Given the description of an element on the screen output the (x, y) to click on. 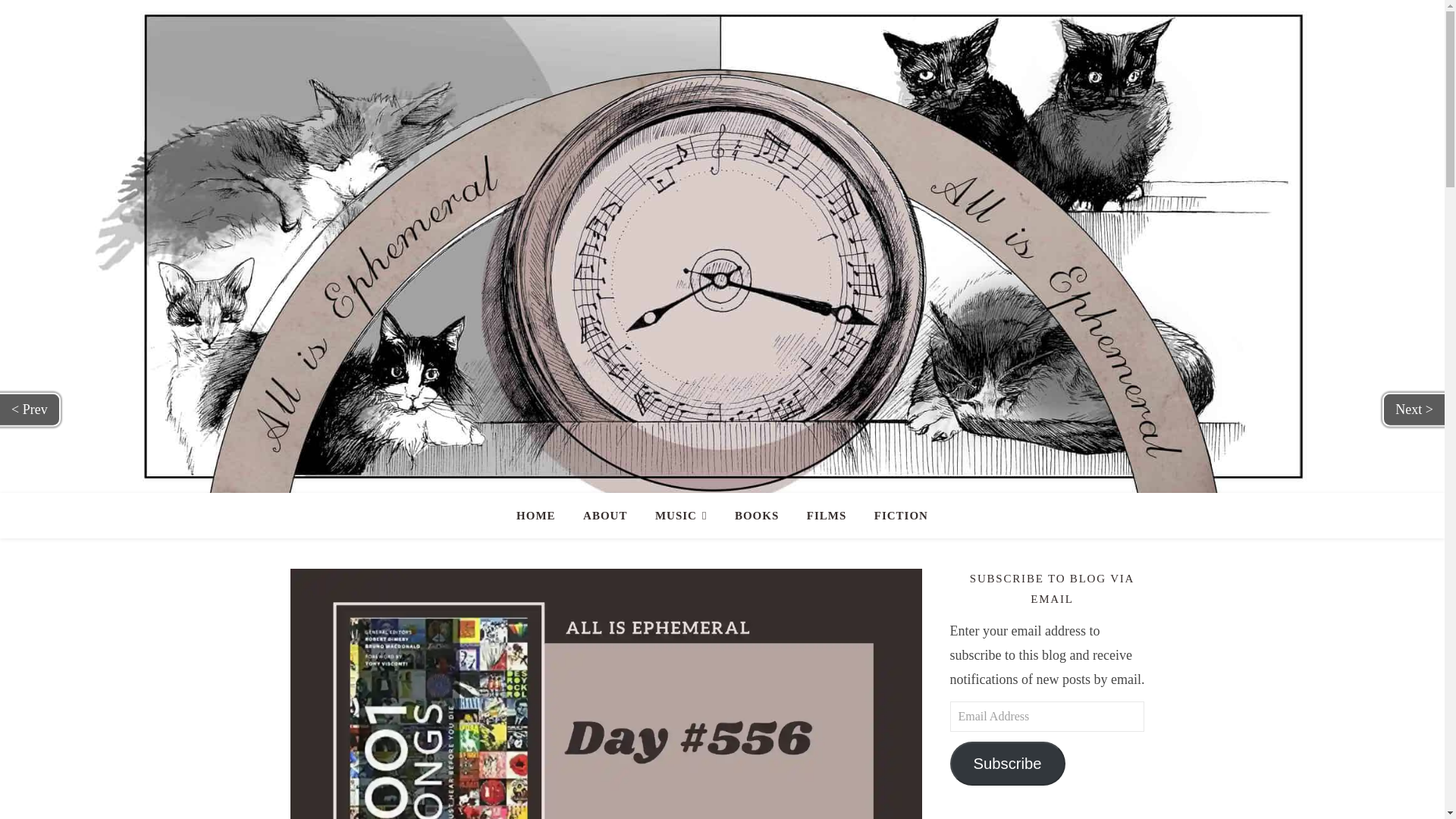
BOOKS (756, 515)
FICTION (894, 515)
FILMS (826, 515)
ABOUT (604, 515)
HOME (541, 515)
MUSIC (681, 515)
